Given the description of an element on the screen output the (x, y) to click on. 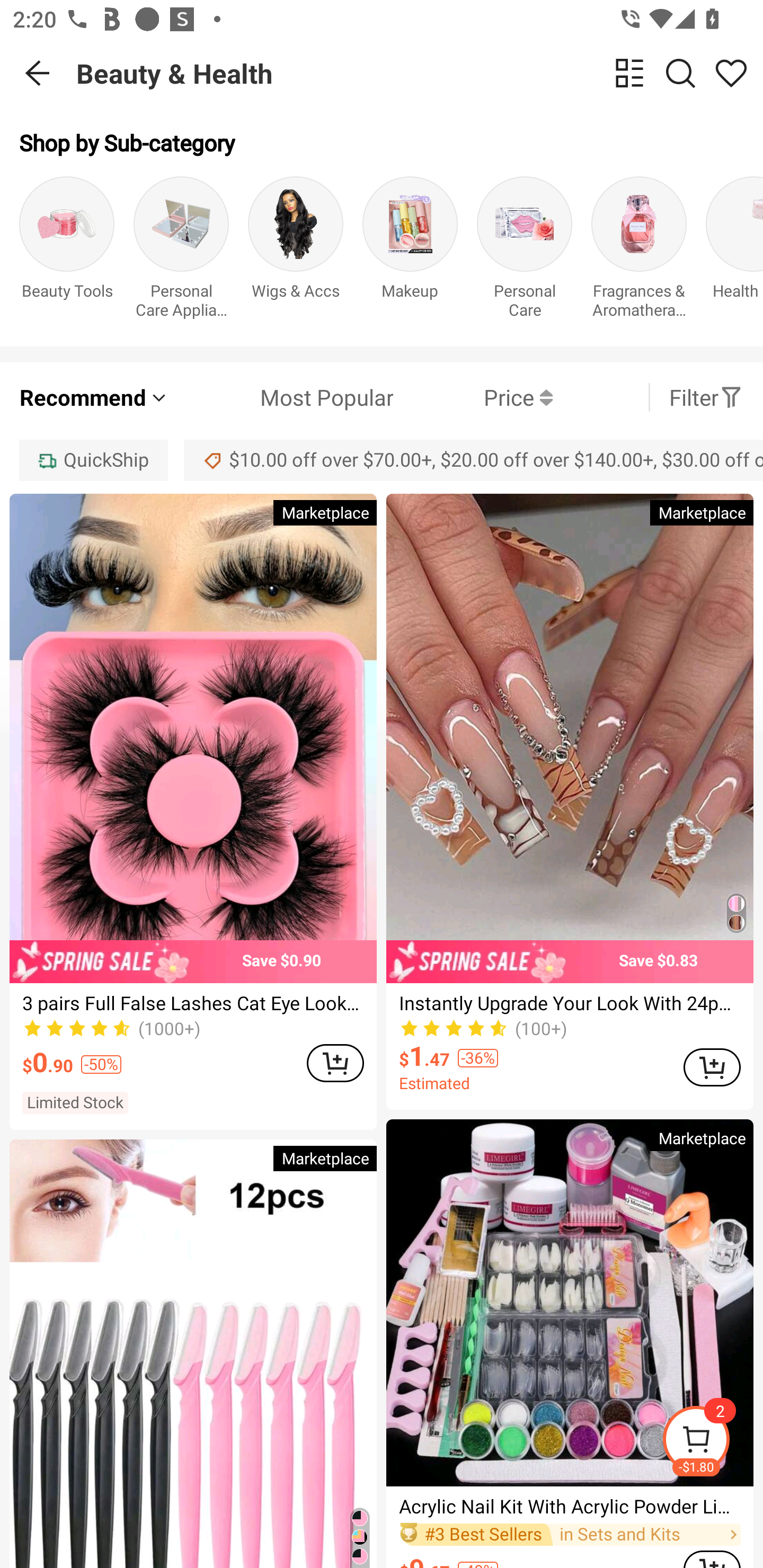
Beauty & Health change view Search Share (419, 72)
change view (629, 72)
Search (679, 72)
Share (730, 72)
Beauty Tools (66, 251)
Personal Care Appliance (180, 251)
Wigs & Accs (295, 251)
Makeup (409, 251)
Personal Care (524, 251)
Fragrances & Aromatherapy (638, 251)
Recommend (94, 397)
Most Popular (280, 397)
Price (472, 397)
Filter (705, 397)
QuickShip (93, 460)
ADD TO CART (334, 1062)
ADD TO CART (711, 1067)
-$1.80 (712, 1441)
#3 Best Sellers in Sets and Kits (569, 1534)
